Given the description of an element on the screen output the (x, y) to click on. 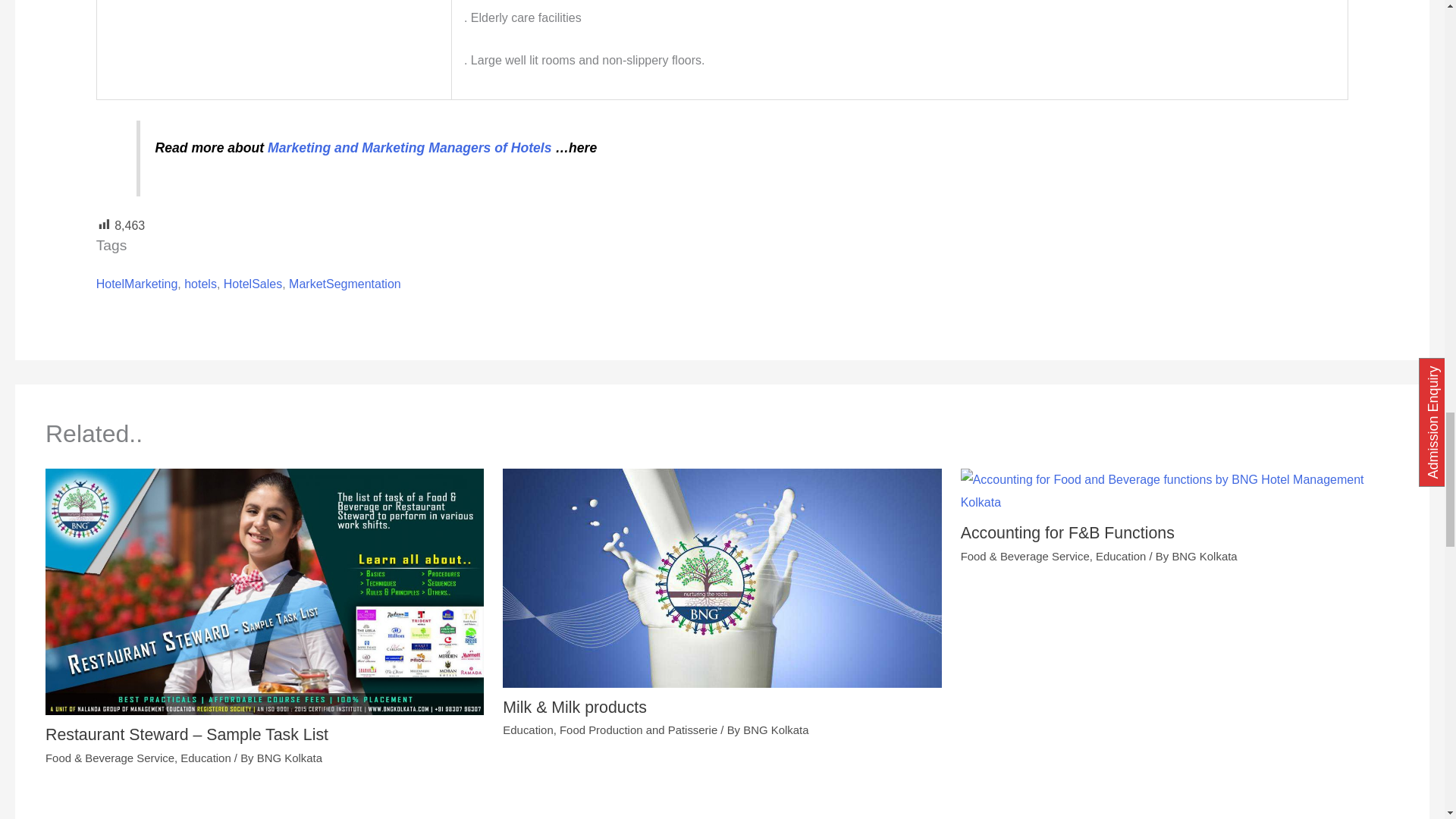
View all posts by BNG Kolkata (1204, 555)
View all posts by BNG Kolkata (775, 729)
View all posts by BNG Kolkata (289, 757)
